Given the description of an element on the screen output the (x, y) to click on. 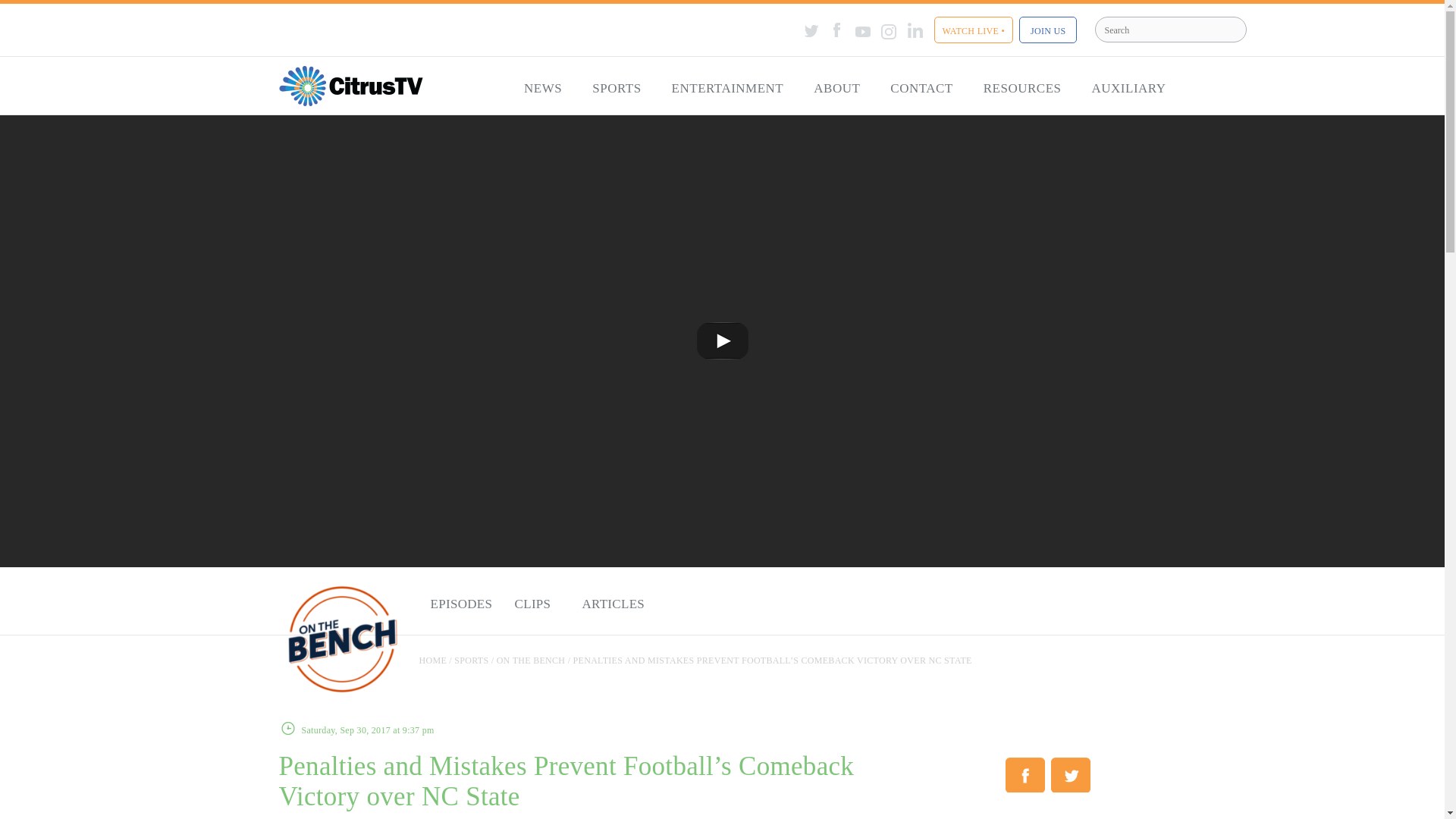
RESOURCES (1022, 88)
CONTACT (921, 88)
ABOUT (836, 88)
JOIN US (1048, 29)
ENTERTAINMENT (727, 88)
SPORTS (616, 88)
NEWS (542, 88)
